Given the description of an element on the screen output the (x, y) to click on. 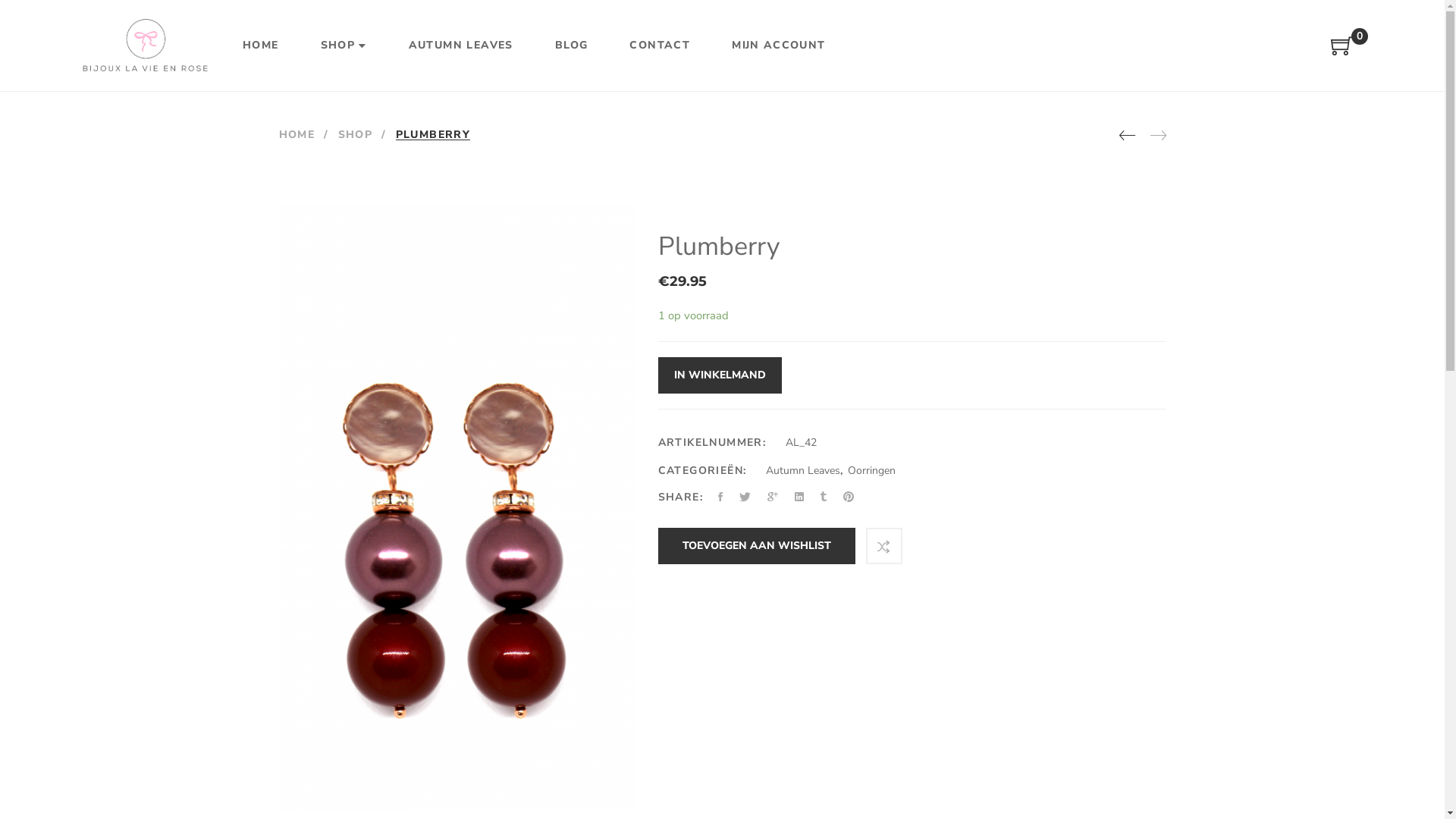
CONTACT Element type: text (659, 45)
IN WINKELMAND Element type: text (719, 375)
SHOP Element type: text (355, 134)
Oorringen Element type: text (871, 470)
SHOP Element type: text (343, 45)
BLOG Element type: text (571, 45)
Previous Element type: hover (1127, 136)
Vergelijk Element type: text (884, 545)
AUTUMN LEAVES Element type: text (460, 45)
TOEVOEGEN AAN WISHLIST Element type: text (756, 545)
Autumn Leaves Element type: text (802, 470)
MIJN ACCOUNT Element type: text (778, 45)
HOME Element type: text (260, 45)
0 Element type: text (1341, 50)
HOME Element type: text (297, 134)
